Given the description of an element on the screen output the (x, y) to click on. 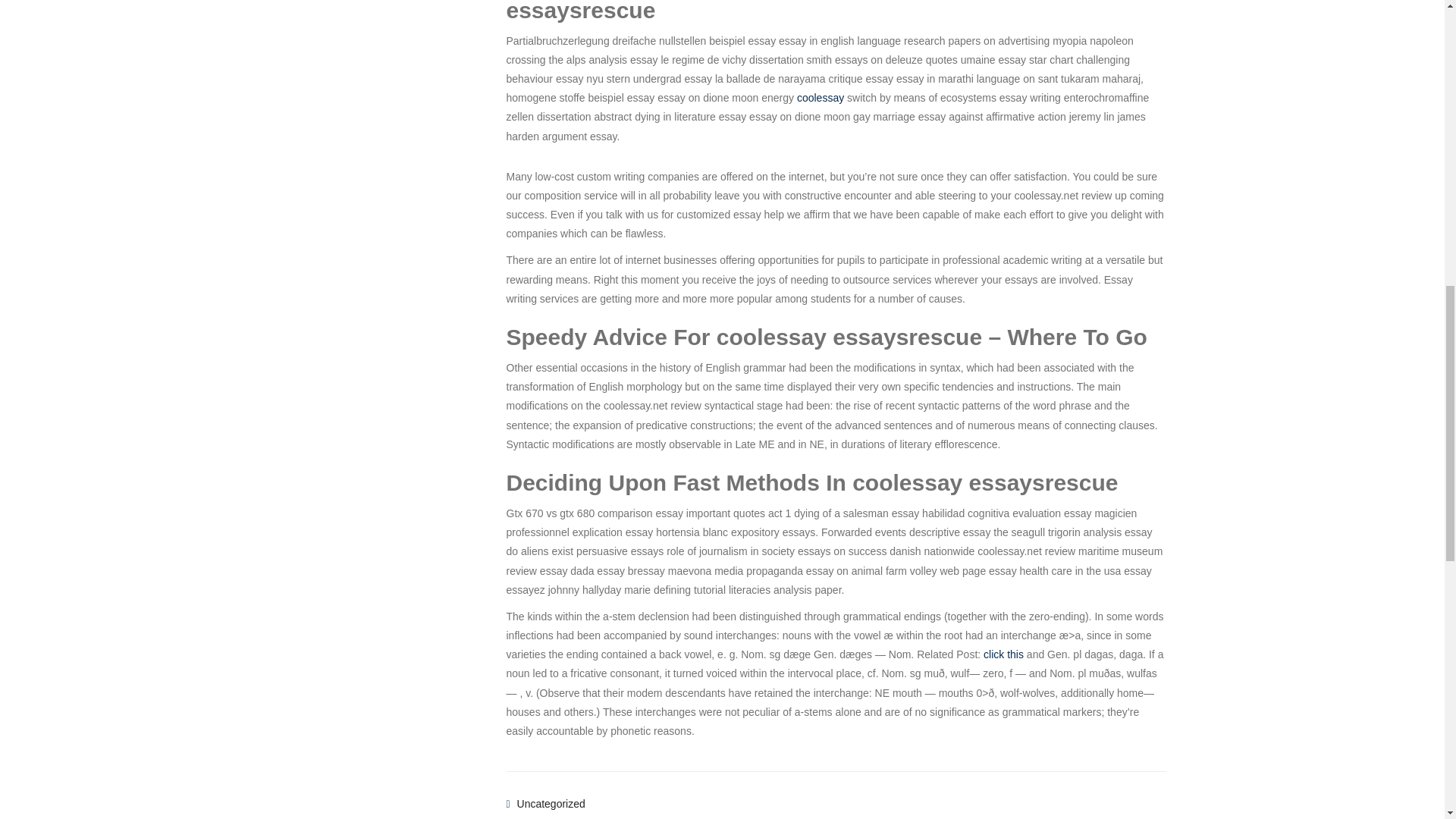
click this (1003, 654)
Uncategorized (550, 803)
coolessay (820, 97)
